Given the description of an element on the screen output the (x, y) to click on. 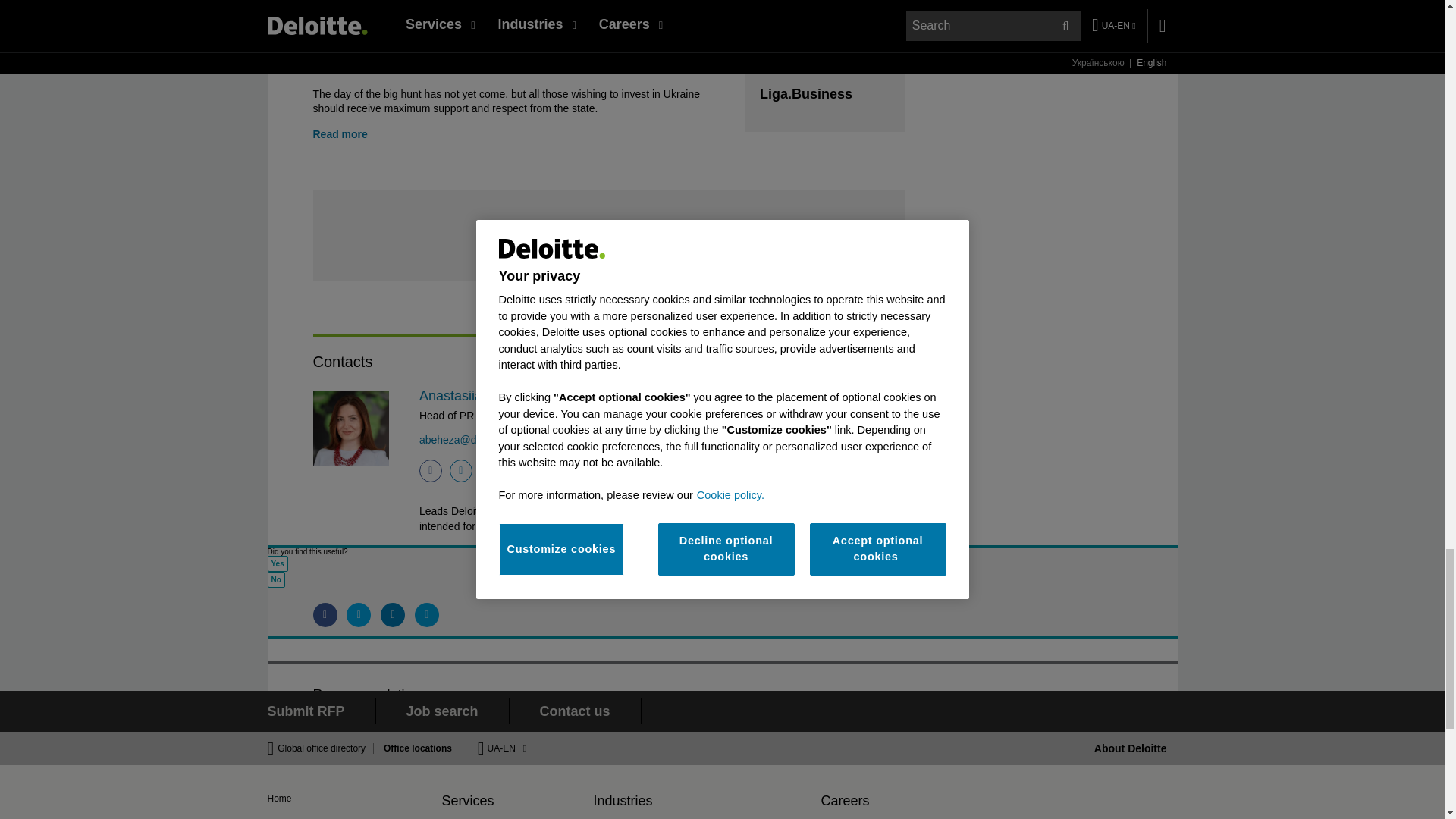
Send via email (426, 614)
Share via Linkedin (392, 614)
Global office directory (326, 747)
Facebook (430, 470)
Share via Twitter (358, 614)
Share via Facebook (324, 614)
About Deloitte (1130, 748)
LinkedIn (460, 470)
Office locations (413, 747)
